Given the description of an element on the screen output the (x, y) to click on. 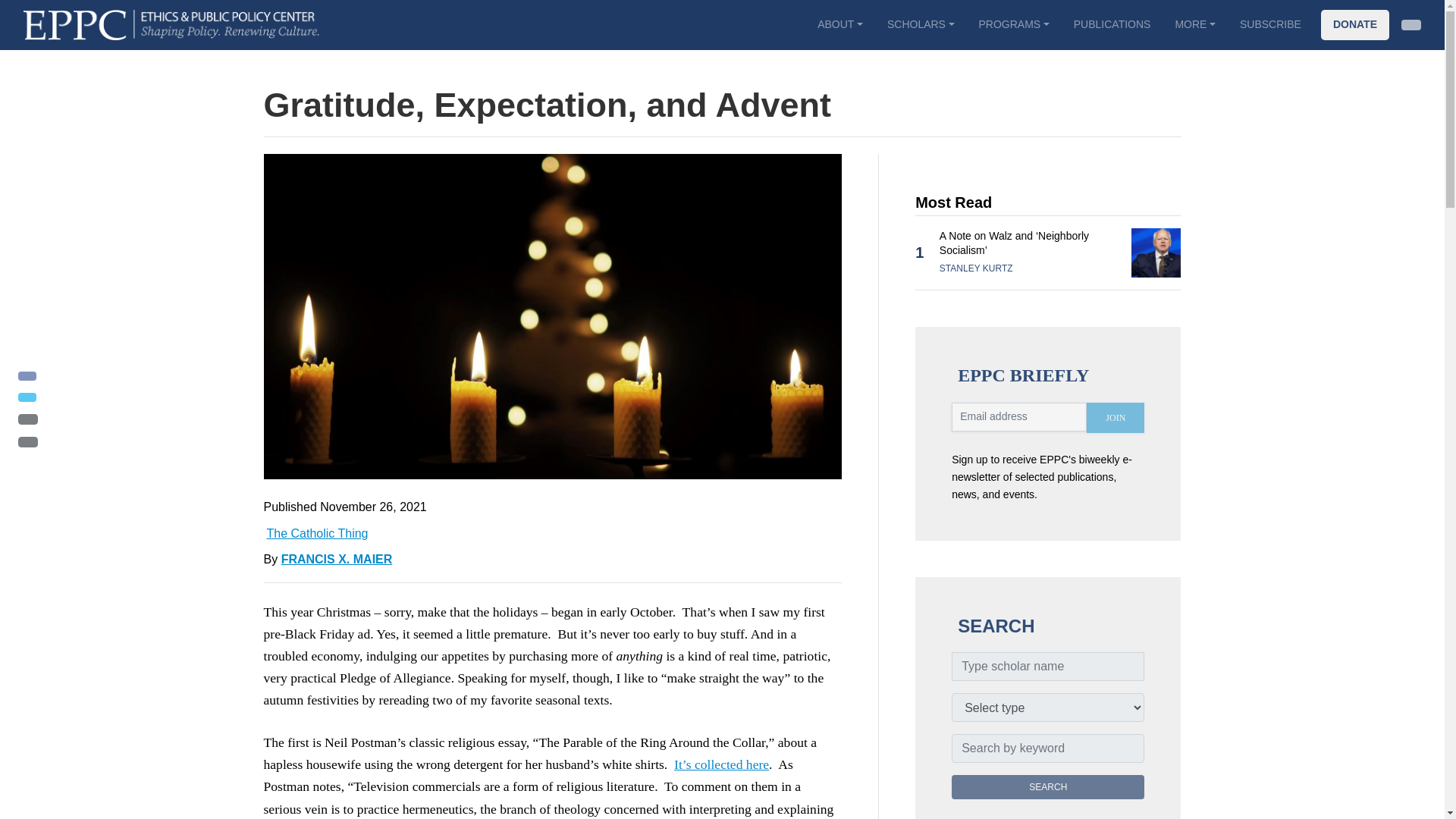
SCHOLARS (920, 24)
ABOUT (840, 24)
JOIN (1115, 417)
